Given the description of an element on the screen output the (x, y) to click on. 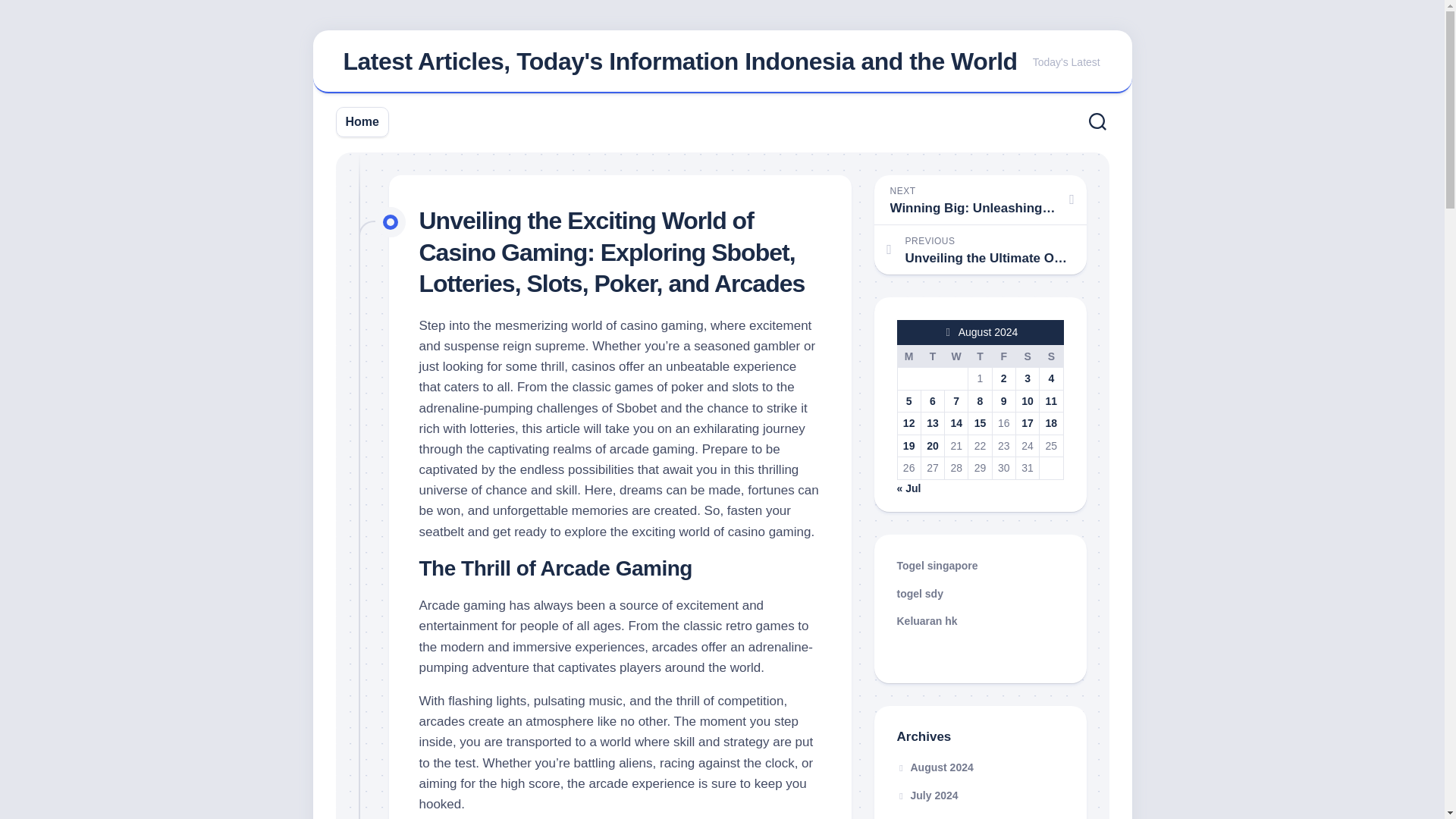
18 (1051, 422)
Tuesday (931, 355)
12 (908, 422)
Thursday (979, 355)
Monday (908, 355)
Latest Articles, Today's Information Indonesia and the World (679, 61)
Keluaran hk (926, 621)
20 (932, 445)
10 (1027, 399)
